Given the description of an element on the screen output the (x, y) to click on. 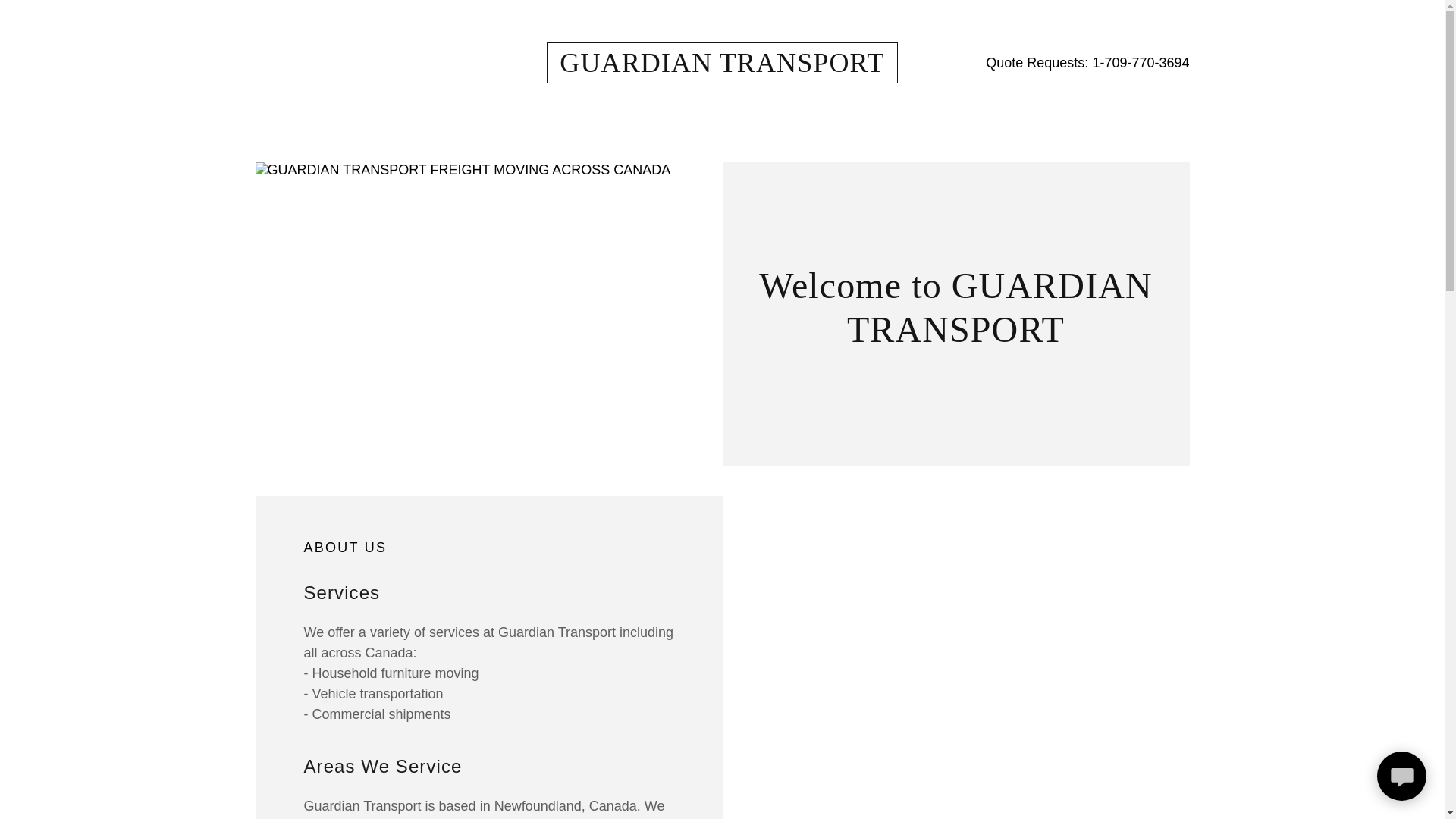
1-709-770-3694 (1140, 61)
GUARDIAN TRANSPORT (721, 67)
GUARDIAN TRANSPORT (721, 67)
